Given the description of an element on the screen output the (x, y) to click on. 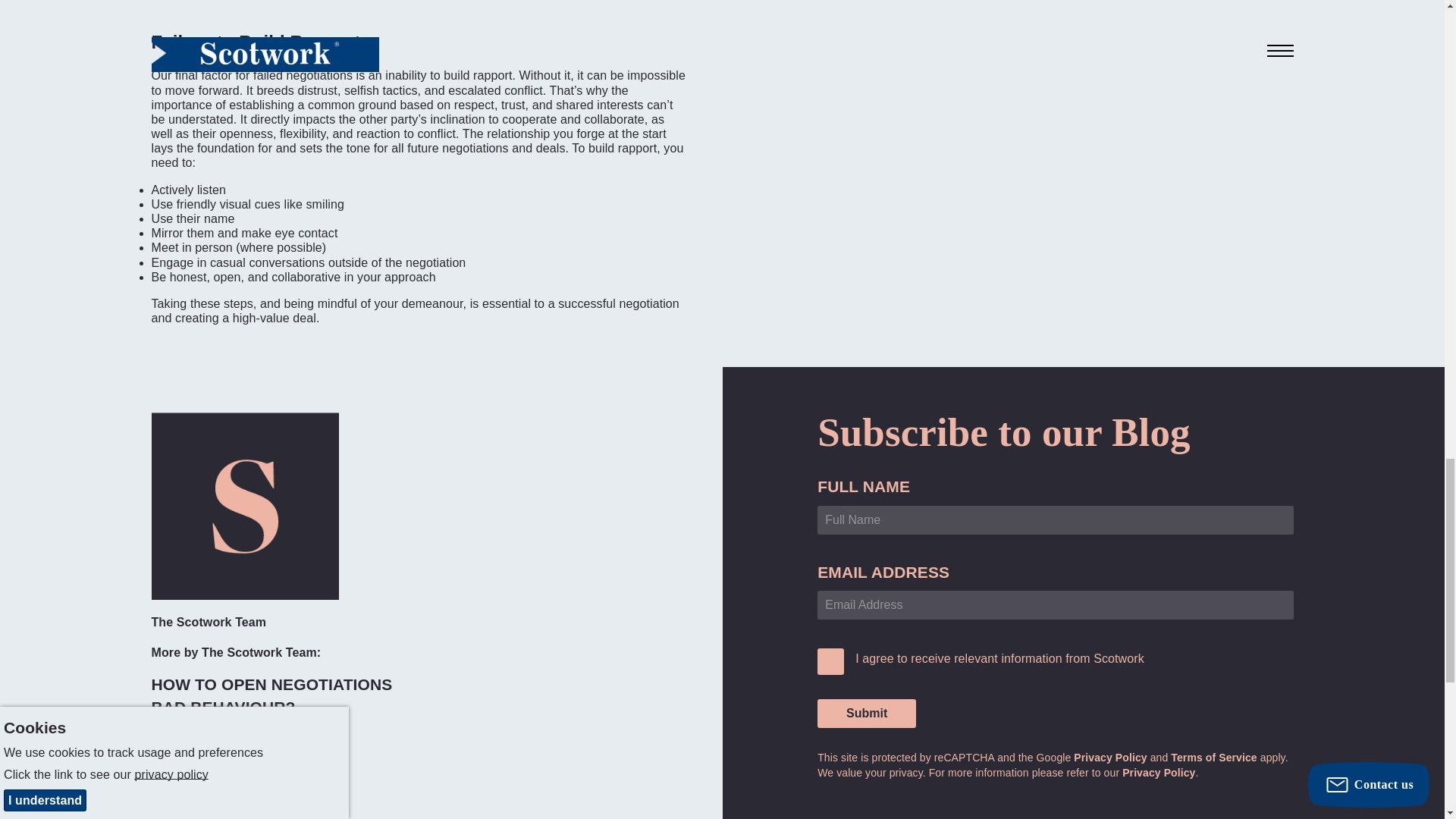
Google Privacy Policy (1110, 757)
Back to Insights (221, 768)
How to Open Negotiations (272, 683)
Terms of Service (1213, 757)
Google Terms (1213, 757)
HOW TO OPEN NEGOTIATIONS (272, 683)
Bad Behaviour? (223, 706)
Privacy Policy (1110, 757)
Scotwork privacy policy (1158, 772)
Privacy Policy (1158, 772)
Submit (865, 713)
BAD BEHAVIOUR? (223, 706)
